Given the description of an element on the screen output the (x, y) to click on. 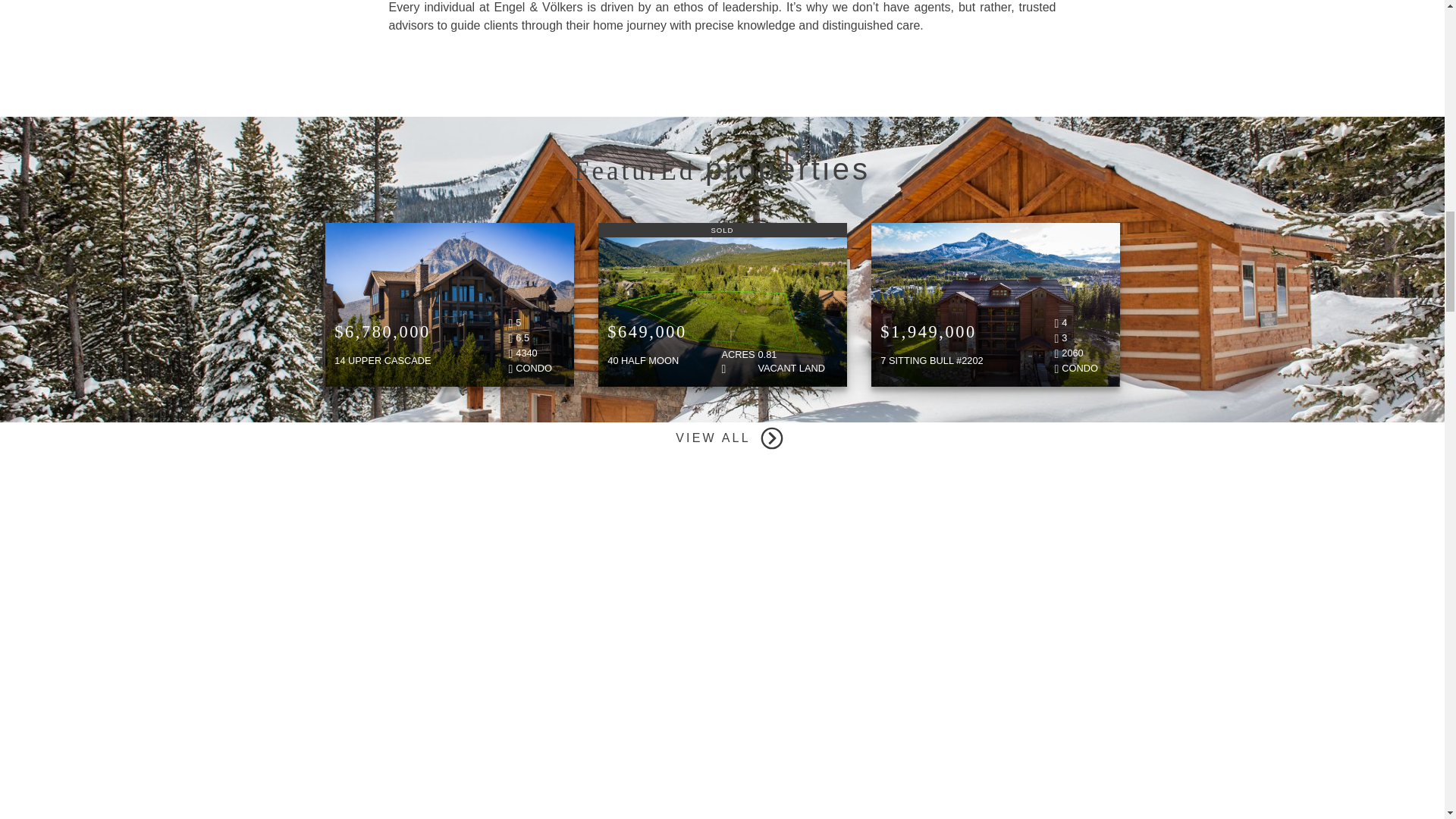
VIEW ALL (722, 438)
